Given the description of an element on the screen output the (x, y) to click on. 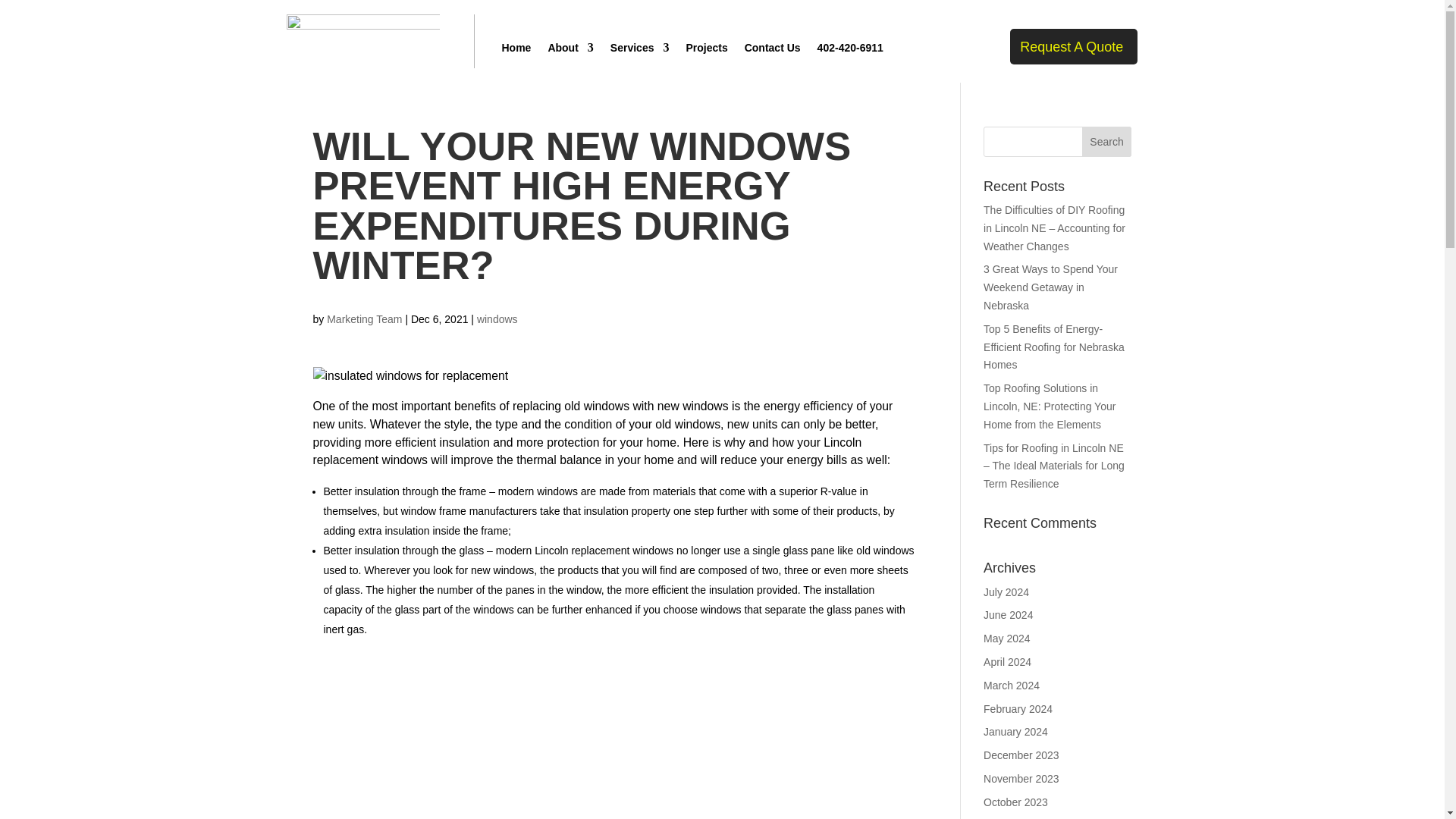
November 2023 (1021, 778)
Request A Quote (1074, 46)
About (569, 50)
Contact Us (772, 50)
Search (1106, 141)
Marketing Team (363, 318)
Projects (705, 50)
April 2024 (1007, 662)
